Given the description of an element on the screen output the (x, y) to click on. 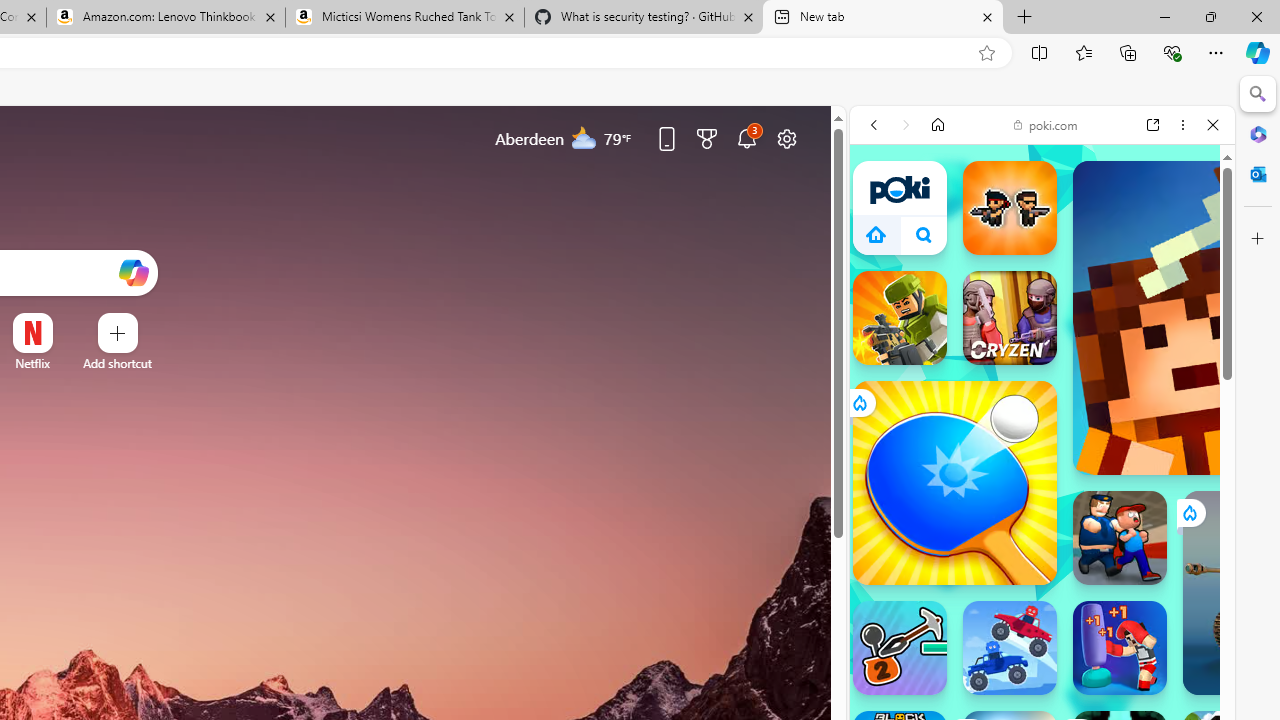
Shooting Games (1042, 553)
Cryzen.io Cryzen.io (1009, 317)
Ping Pong Go! Ping Pong Go! (954, 482)
Stickman Climb 2 (899, 647)
Poki - Free Online Games - Play Now! (1034, 343)
Ping Pong Go! (954, 482)
